Given the description of an element on the screen output the (x, y) to click on. 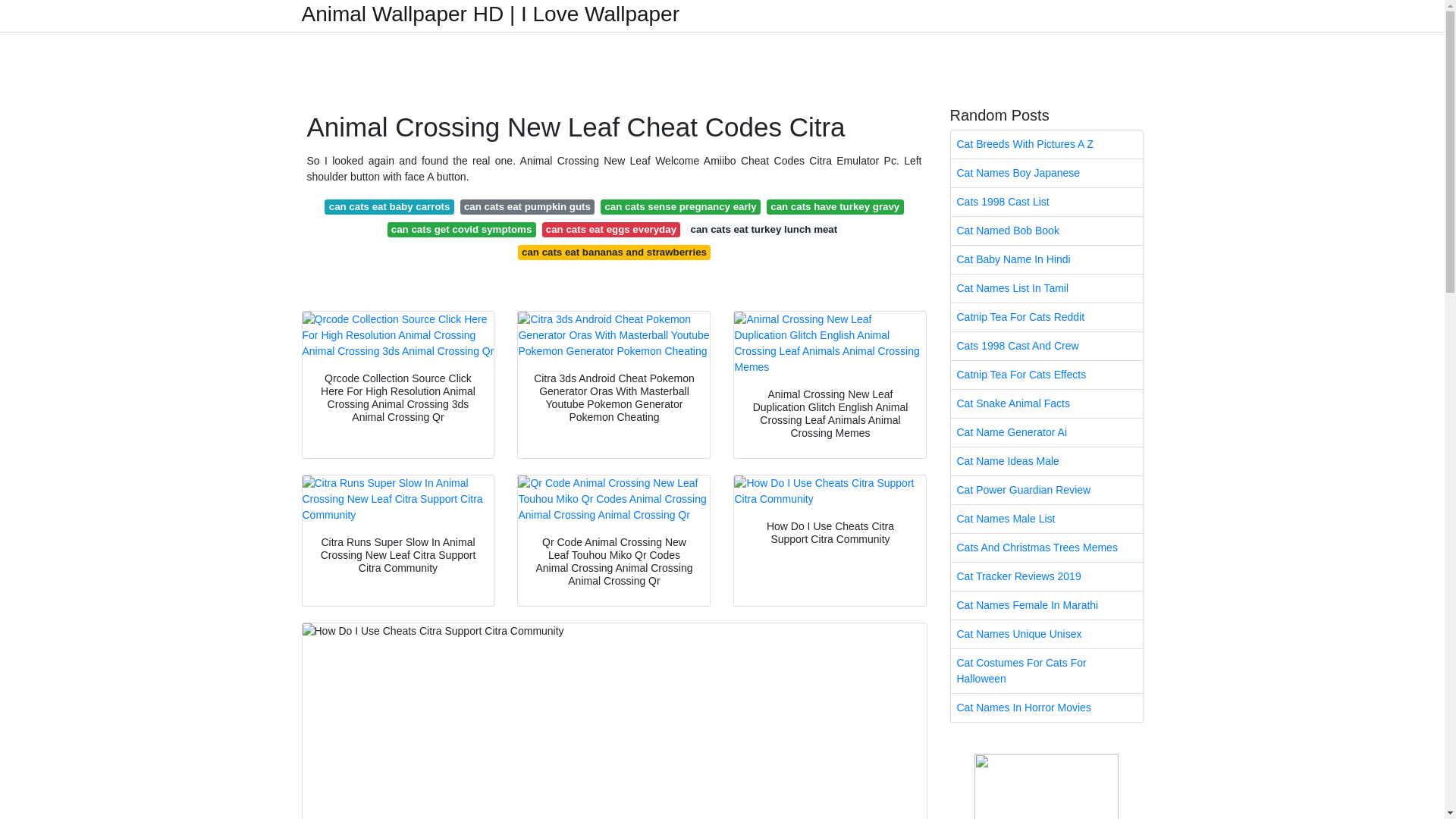
Cat Snake Animal Facts (1046, 403)
can cats have turkey gravy (835, 206)
Cats 1998 Cast And Crew (1046, 346)
Cat Names List In Tamil (1046, 288)
can cats eat baby carrots (388, 206)
can cats sense pregnancy early (679, 206)
Cat Breeds With Pictures A Z (1046, 144)
Cats 1998 Cast List (1046, 202)
Cat Names Boy Japanese (1046, 172)
Cat Named Bob Book (1046, 230)
